Given the description of an element on the screen output the (x, y) to click on. 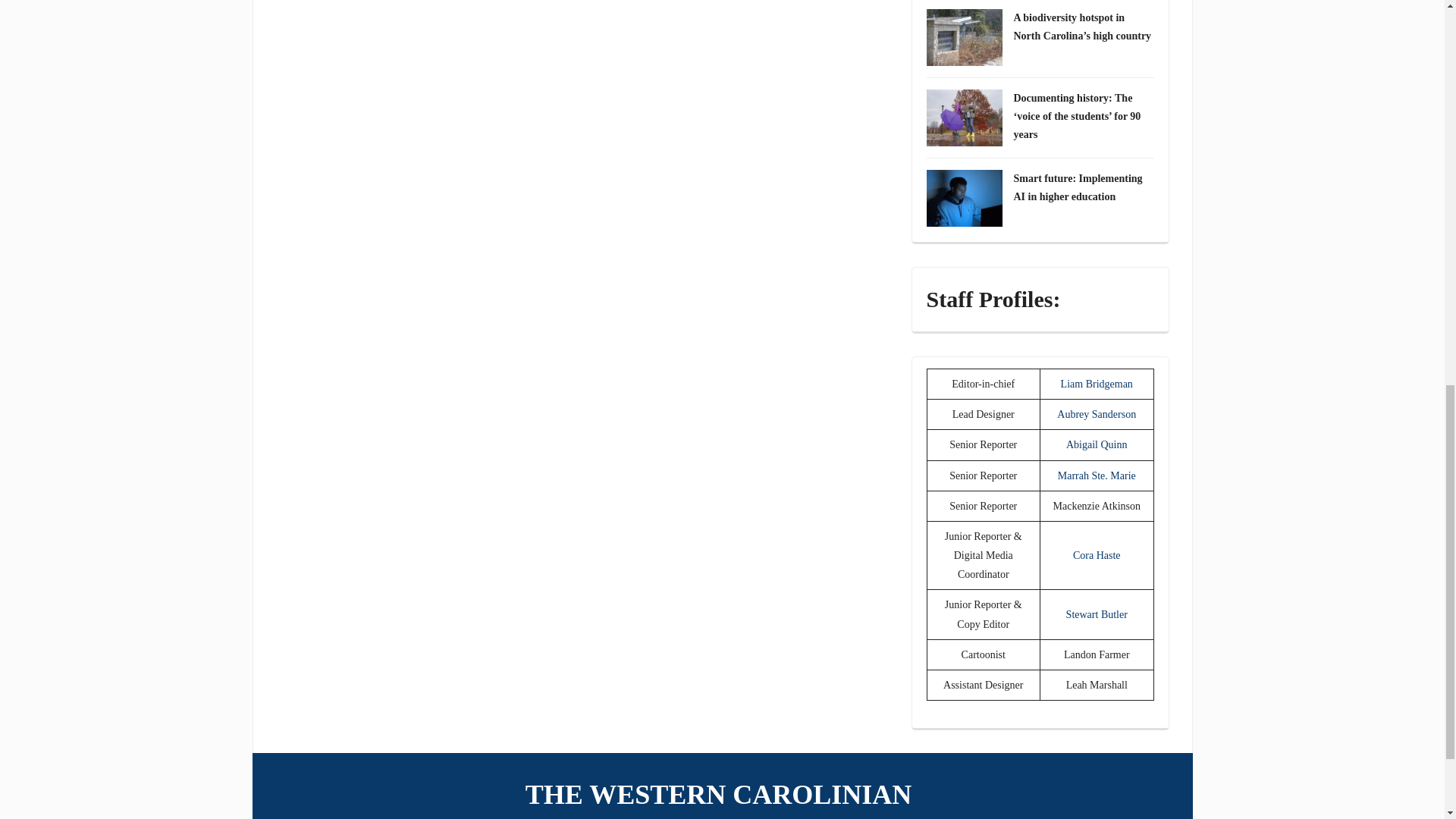
Western Carolina University's source for student-led news. (721, 794)
